Given the description of an element on the screen output the (x, y) to click on. 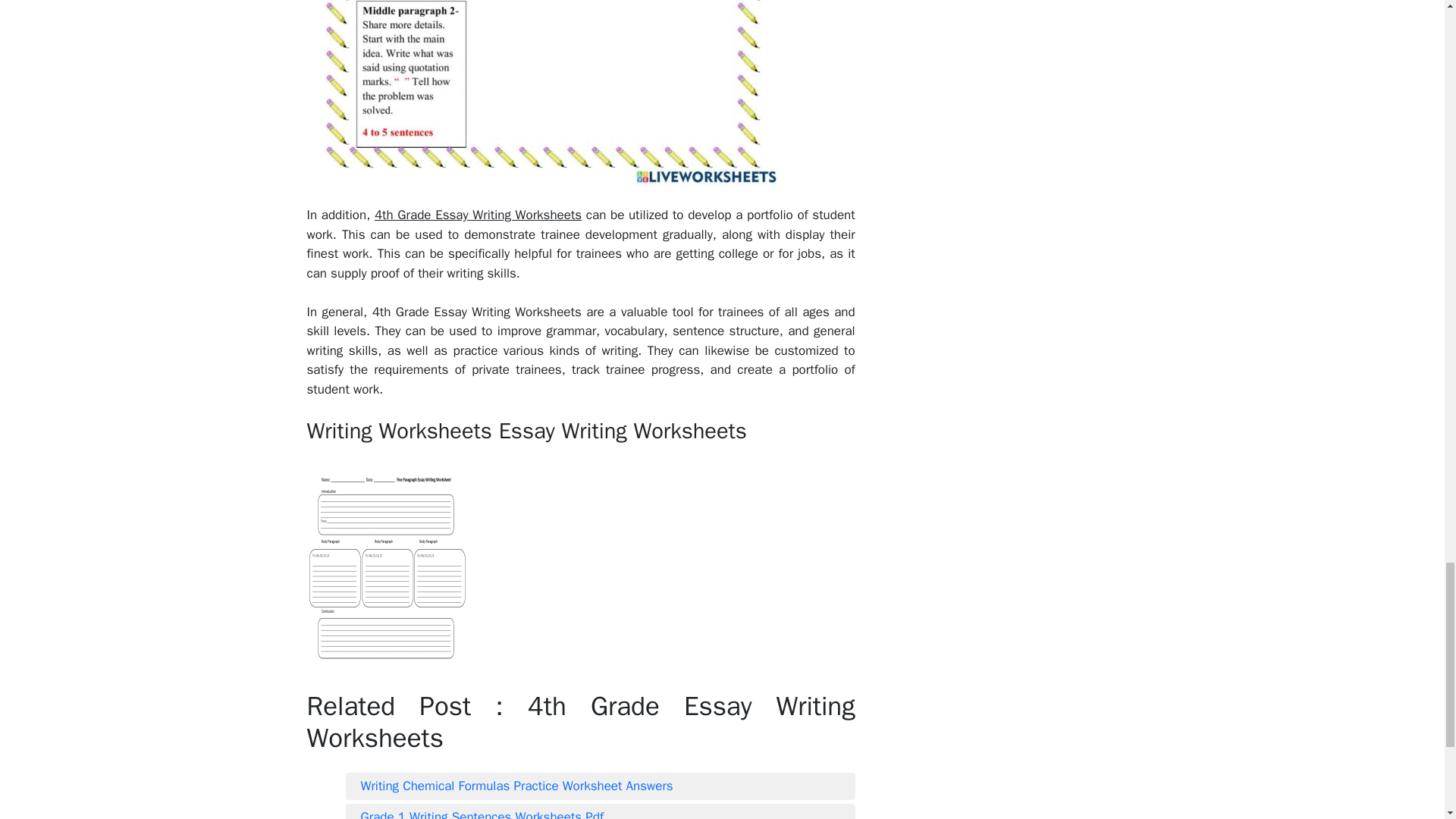
Writing Chemical Formulas Practice Worksheet Answers (600, 785)
Narrative Essay Writing Worksheet (541, 93)
Grade 1 Writing Sentences Worksheets Pdf (600, 812)
